Given the description of an element on the screen output the (x, y) to click on. 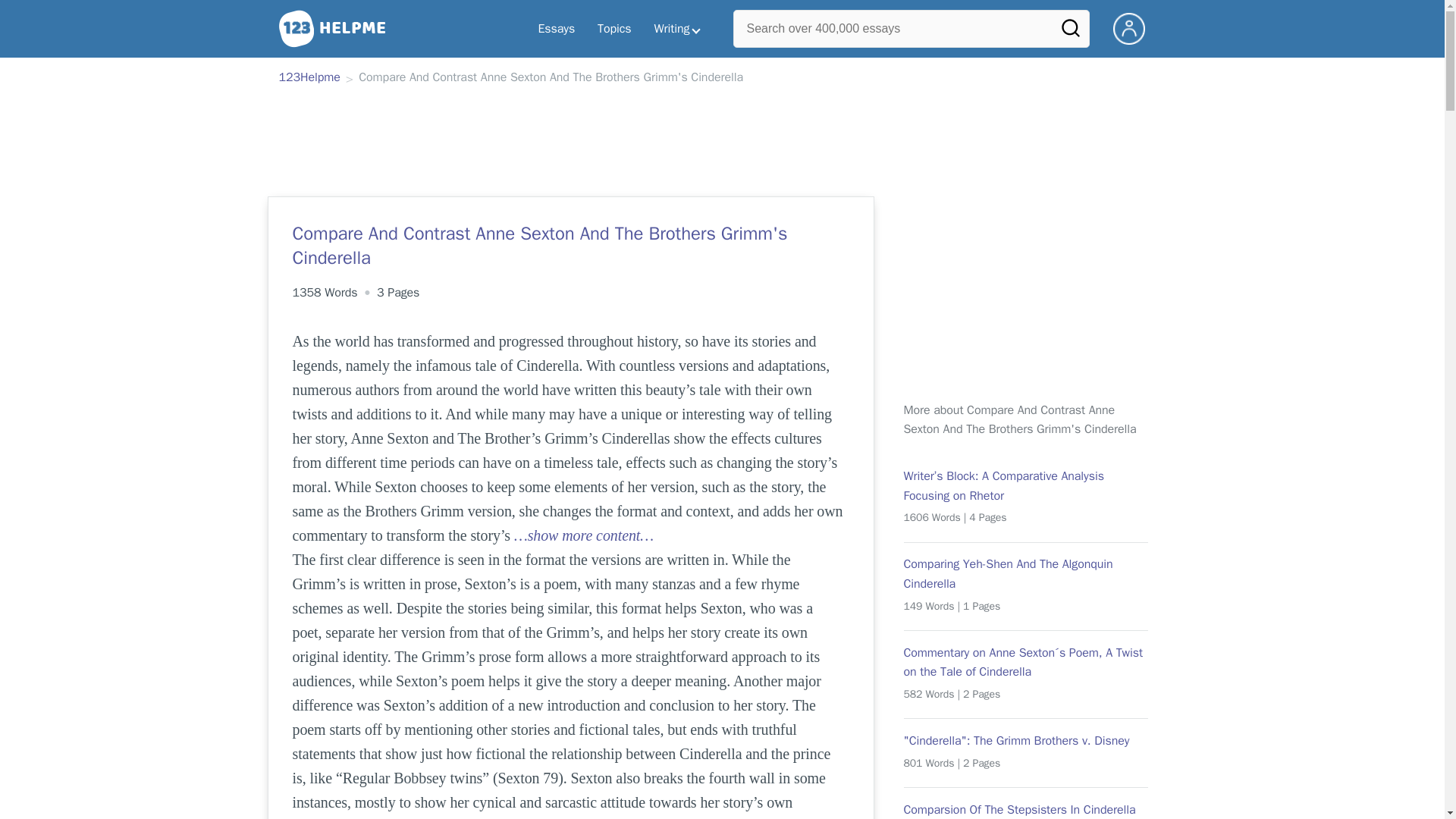
Essays (555, 28)
Topics (614, 28)
123Helpme (309, 78)
Writing (677, 28)
